Given the description of an element on the screen output the (x, y) to click on. 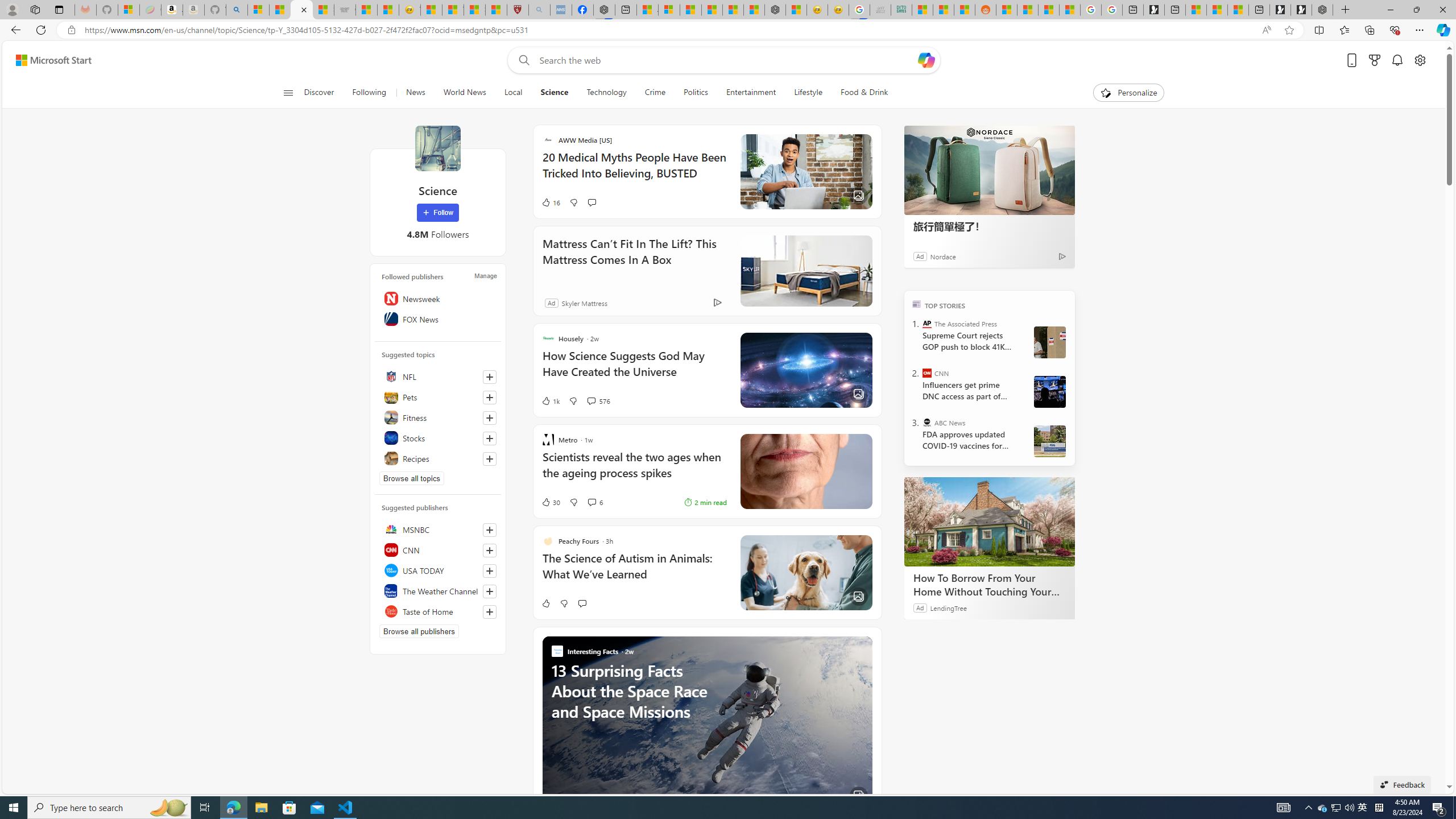
1k Like (549, 400)
16 Like (549, 202)
